Given the description of an element on the screen output the (x, y) to click on. 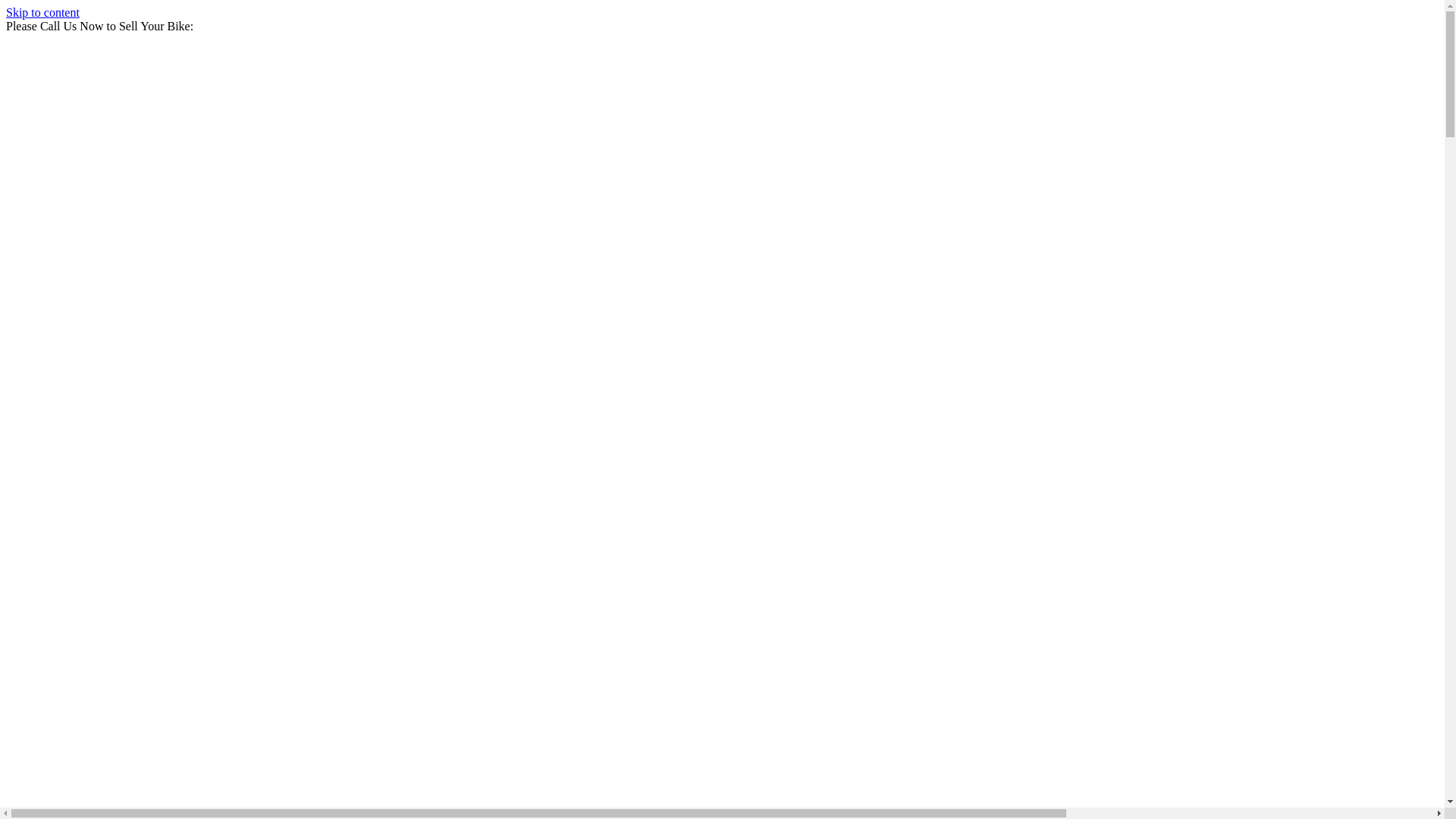
Skip to content Element type: text (42, 12)
0408795705 Element type: text (226, 25)
